Given the description of an element on the screen output the (x, y) to click on. 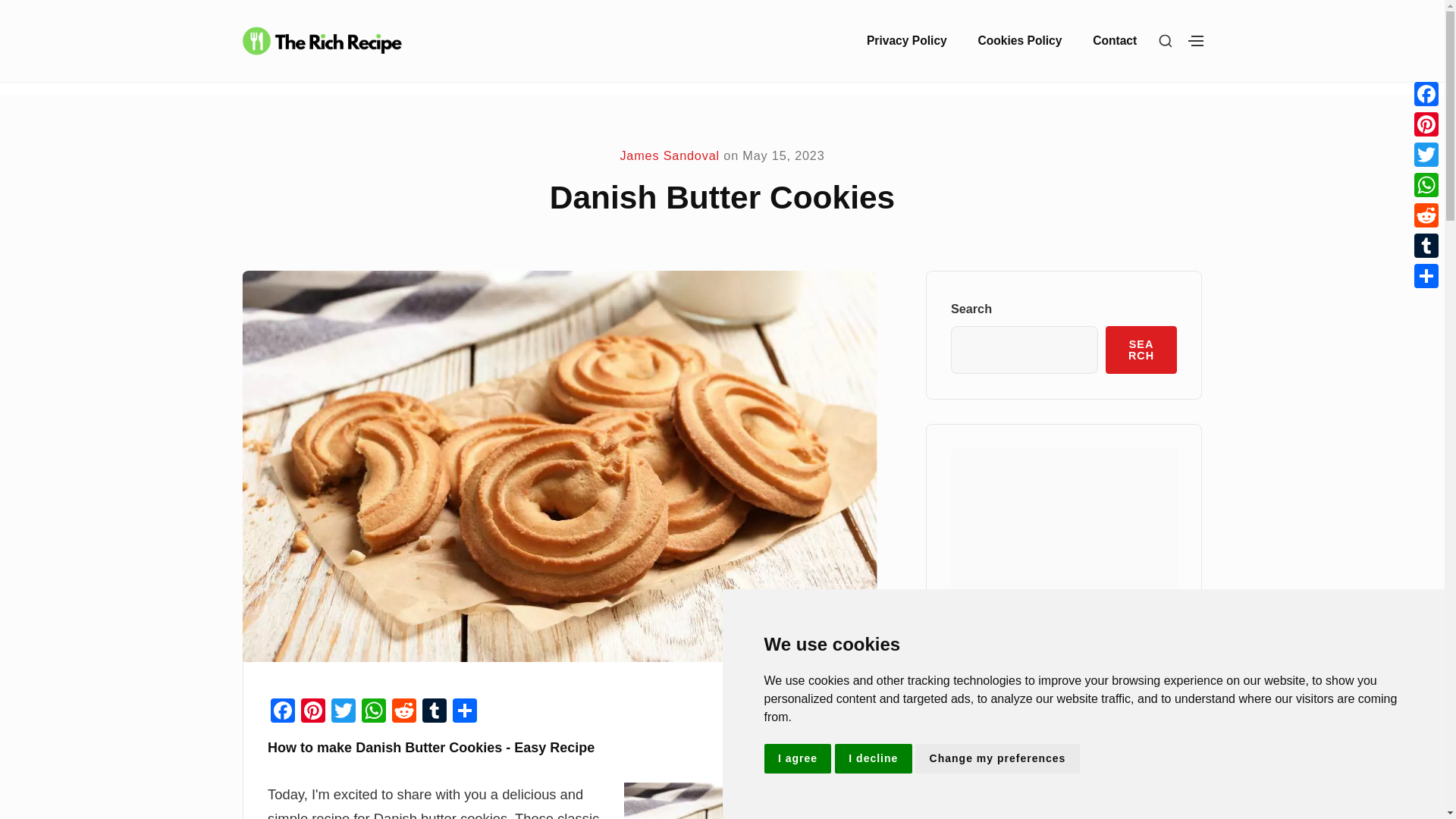
Pinterest (313, 712)
SEARCH (1140, 349)
Reddit (403, 712)
Twitter (343, 712)
Cookies Policy (1019, 40)
Facebook (282, 712)
Pinterest (313, 712)
Tumblr (434, 712)
Twitter (343, 712)
Share (464, 712)
Tumblr (434, 712)
SHOW SECONDARY SIDEBAR (1195, 41)
SHOW SECONDARY SIDEBAR (1165, 41)
WhatsApp (373, 712)
James Sandoval (669, 155)
